Given the description of an element on the screen output the (x, y) to click on. 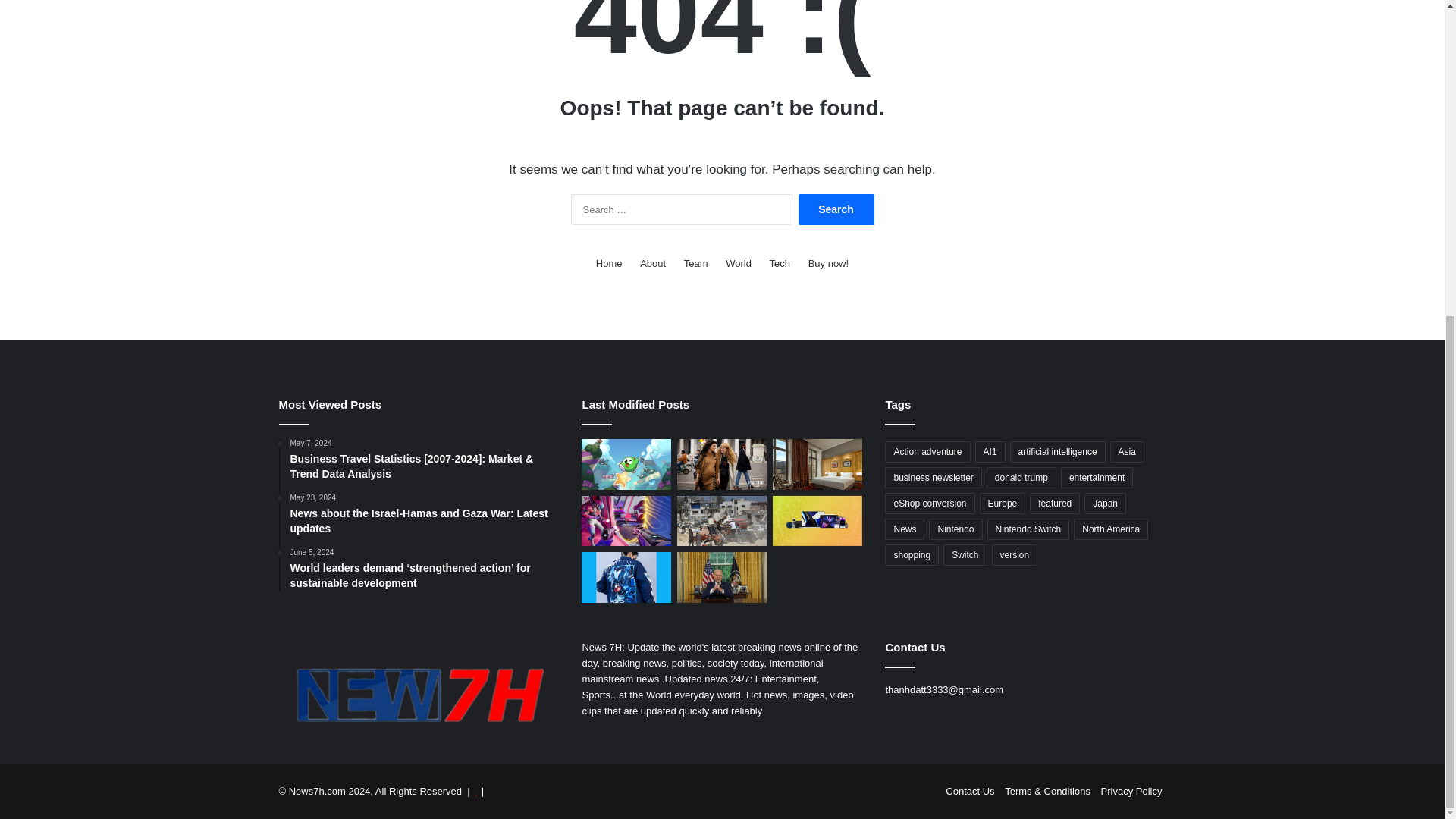
AI1 (990, 451)
donald trump (1022, 477)
artificial intelligence (1057, 451)
Buy now! (828, 263)
Home (609, 263)
Tech (780, 263)
Action adventure (927, 451)
Search (835, 209)
World (738, 263)
business newsletter (933, 477)
Buy now! (828, 263)
About (652, 263)
eShop conversion (929, 503)
Search (835, 209)
Asia (1126, 451)
